Given the description of an element on the screen output the (x, y) to click on. 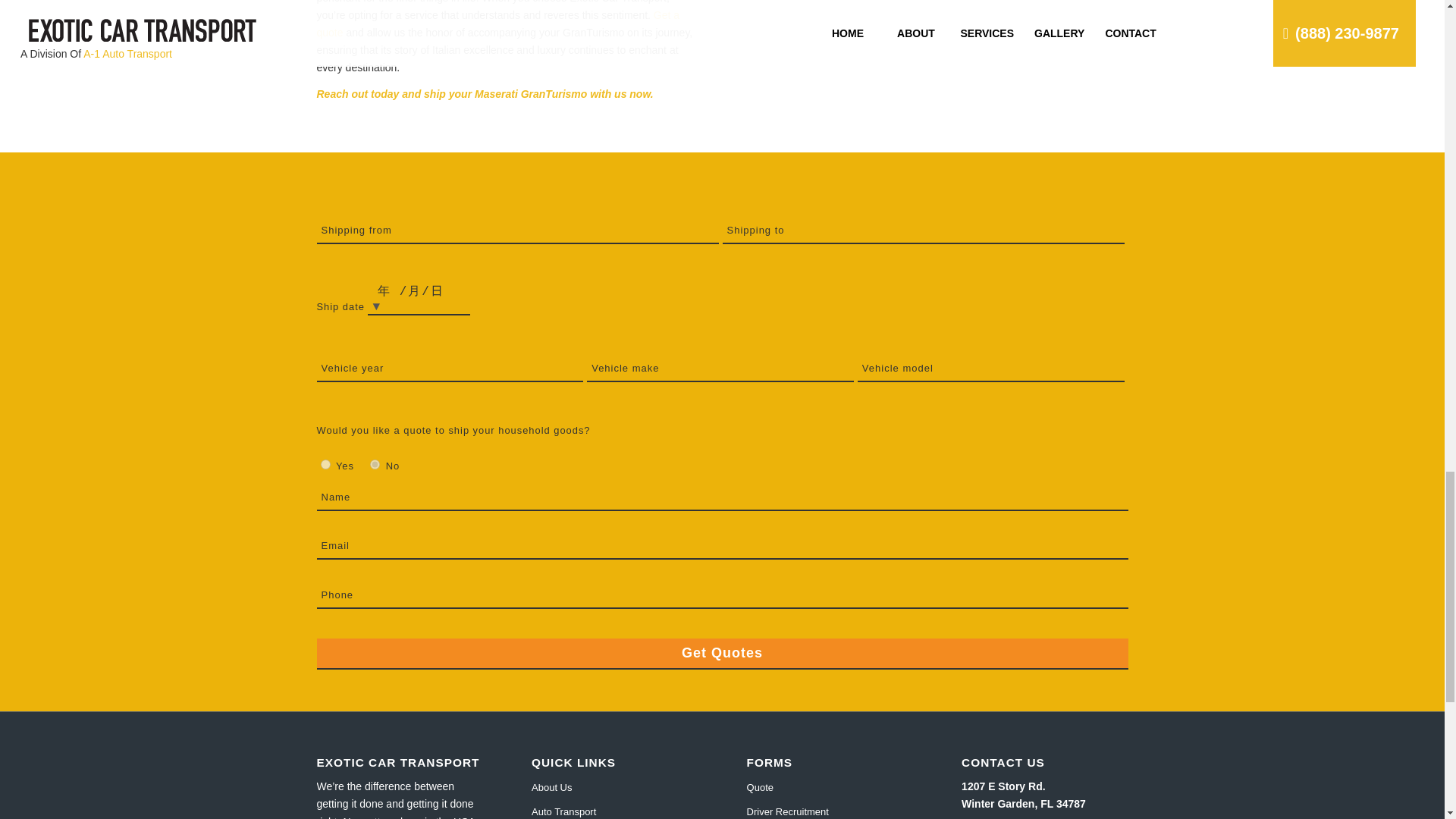
Yes (325, 464)
Get Quotes (722, 653)
About Us (614, 786)
pexels-alex-kad-11352135 (937, 57)
Get a quote (498, 23)
Get Quotes (722, 653)
No (374, 464)
Auto Transport (614, 809)
